Given the description of an element on the screen output the (x, y) to click on. 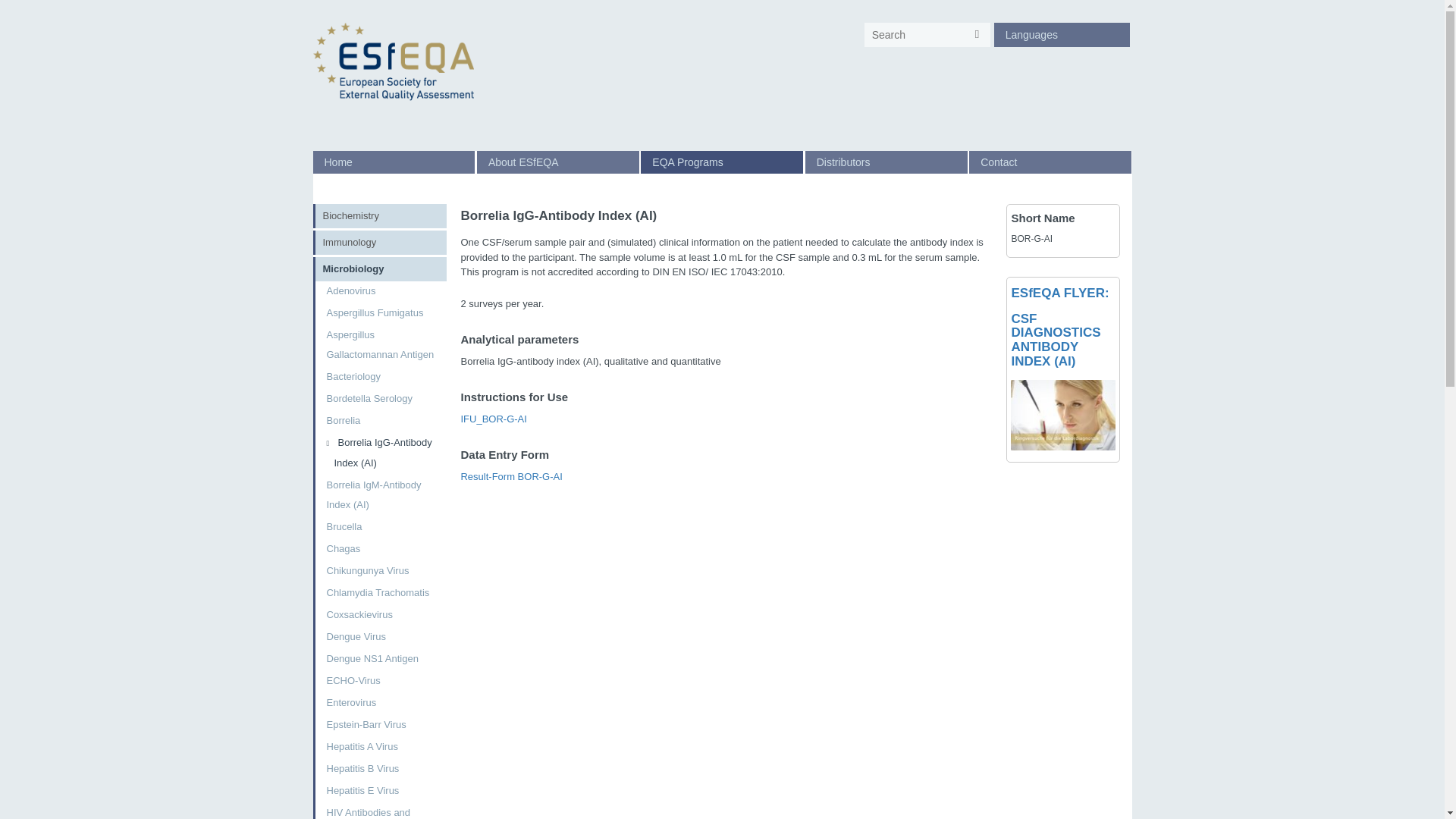
Adenovirus (380, 291)
Enterovirus (380, 702)
Dengue NS1 Antigen (380, 659)
Borrelia (380, 420)
Immunology (380, 242)
Chlamydia Trachomatis (380, 592)
Bordetella Serology (380, 398)
Hepatitis A Virus (380, 746)
Distributors (886, 161)
Aspergillus Fumigatus (380, 312)
